Given the description of an element on the screen output the (x, y) to click on. 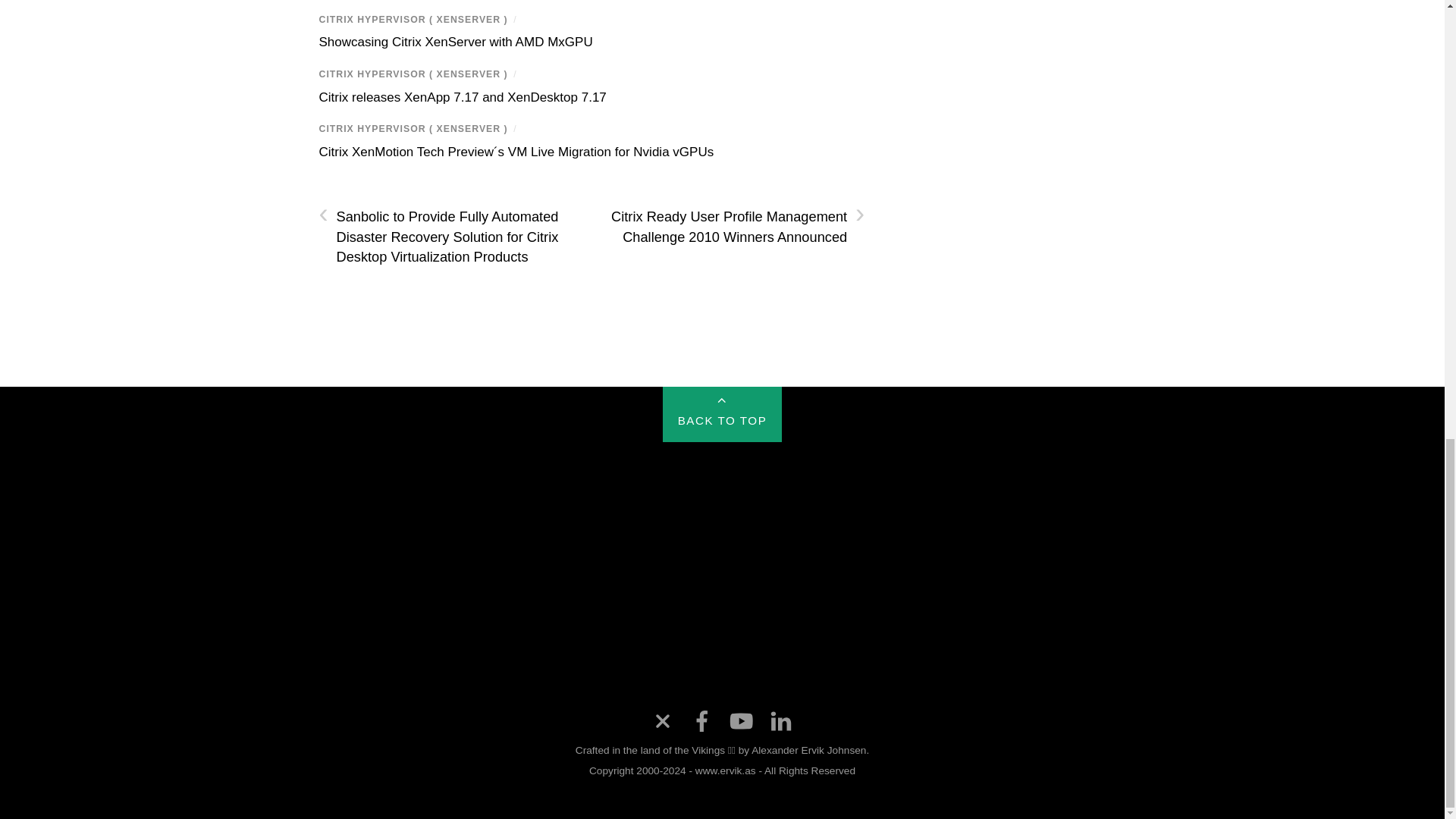
Showcasing Citrix XenServer with AMD MxGPU (455, 42)
Citrix releases XenApp 7.17 and XenDesktop 7.17 (461, 97)
